Given the description of an element on the screen output the (x, y) to click on. 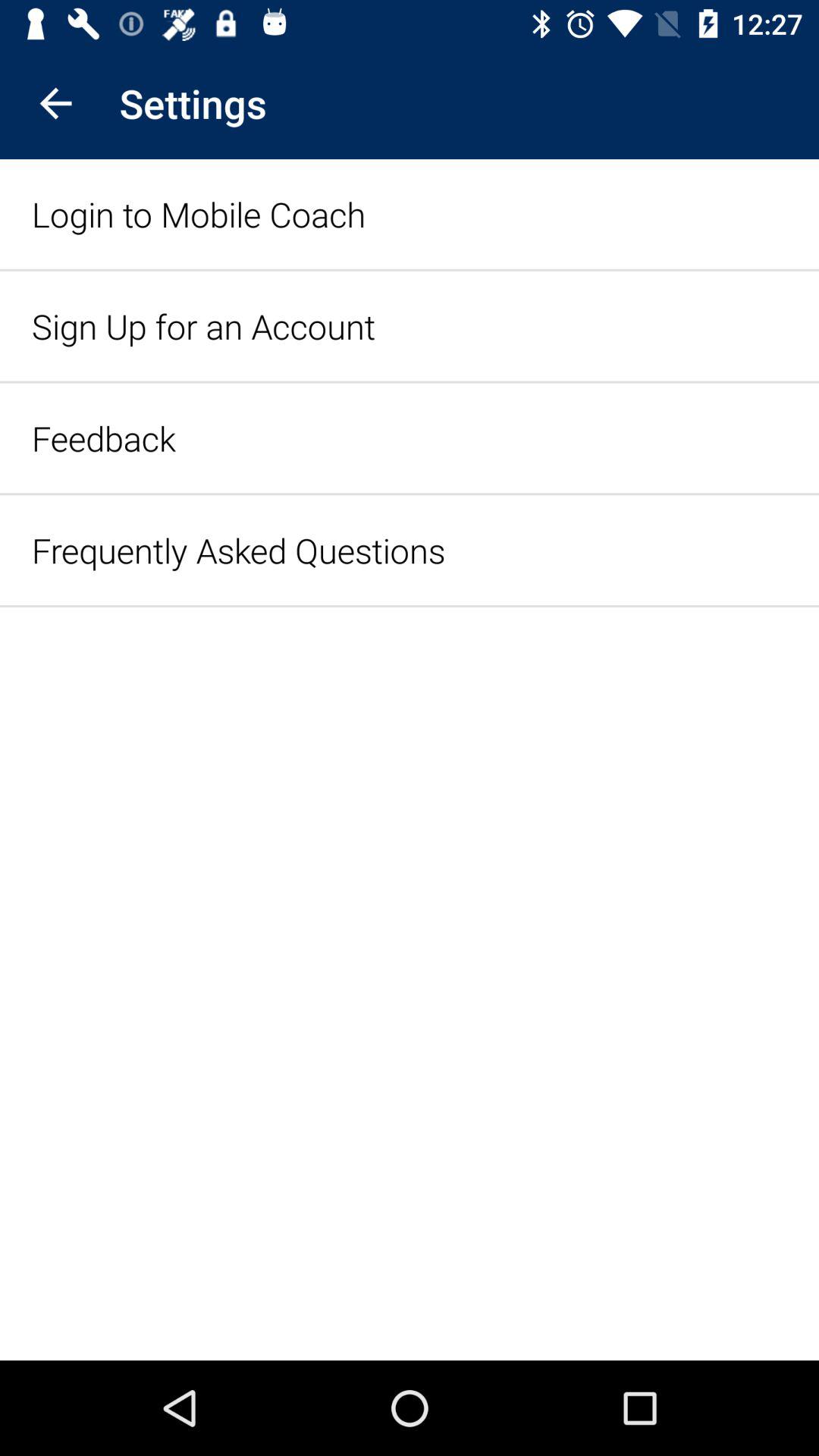
scroll until sign up for icon (203, 326)
